Given the description of an element on the screen output the (x, y) to click on. 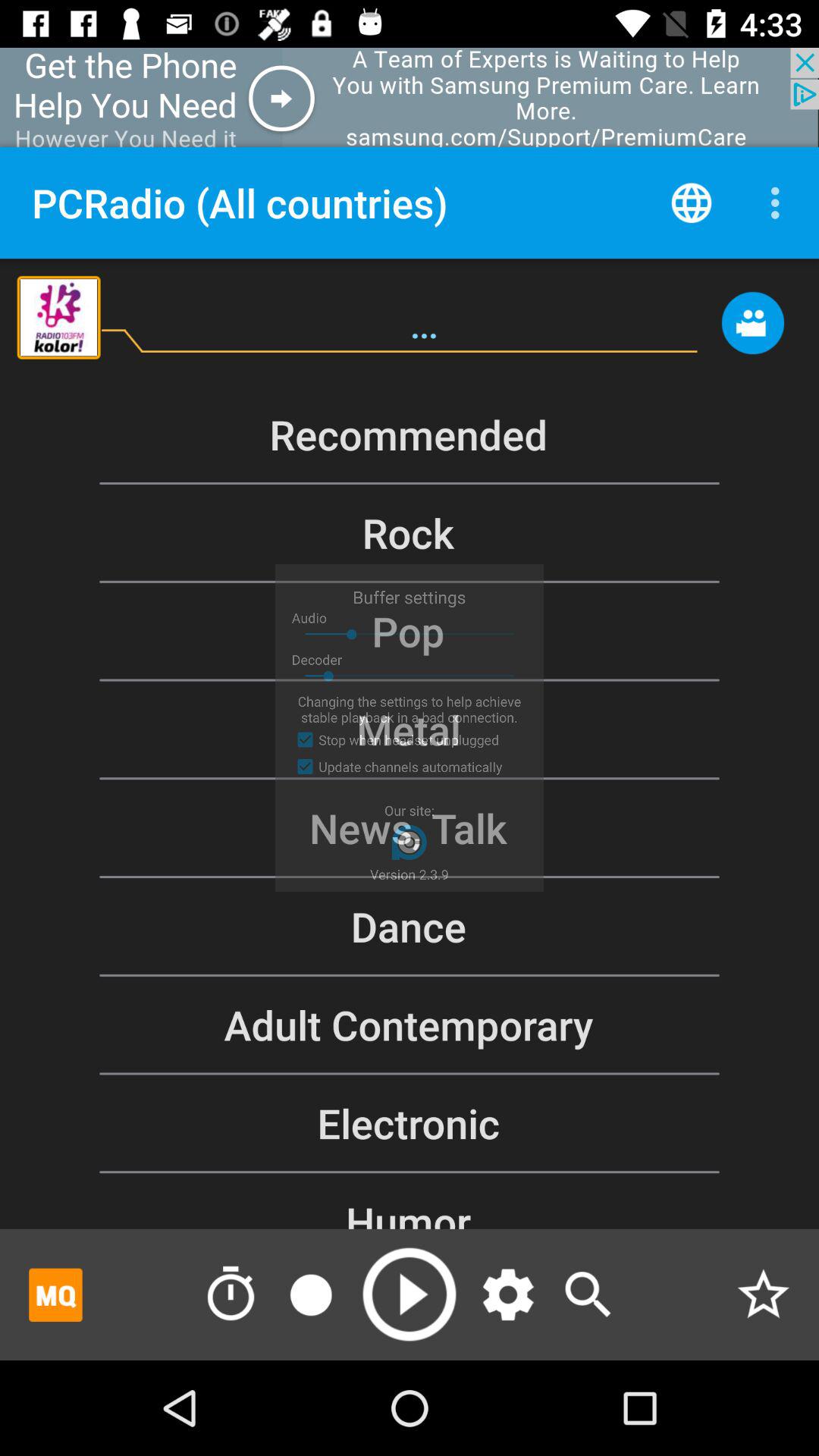
go to mq box (55, 1294)
